Given the description of an element on the screen output the (x, y) to click on. 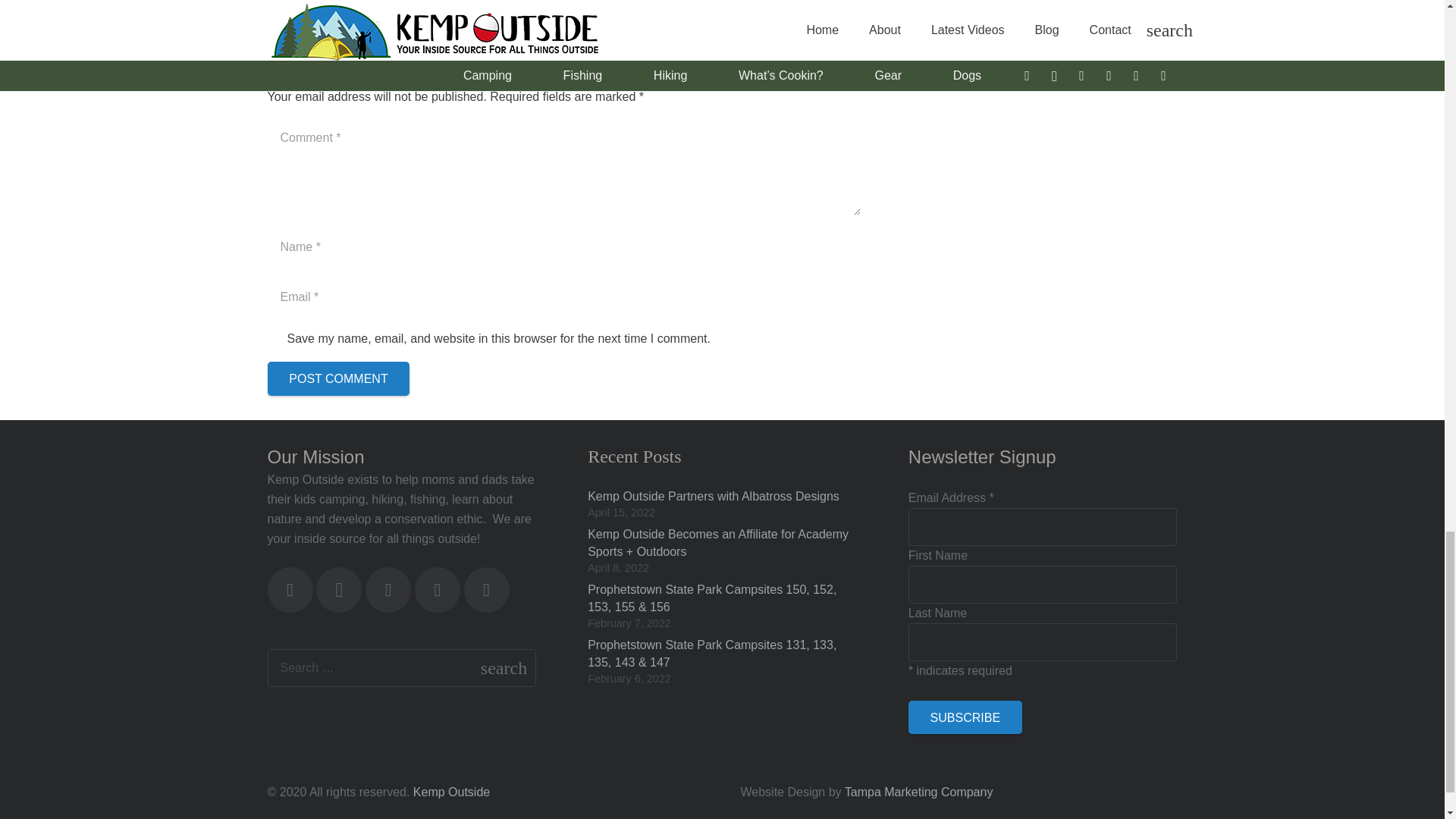
Facebook (289, 589)
1 (274, 339)
Instagram (338, 589)
Subscribe (965, 717)
Twitter (387, 589)
